Given the description of an element on the screen output the (x, y) to click on. 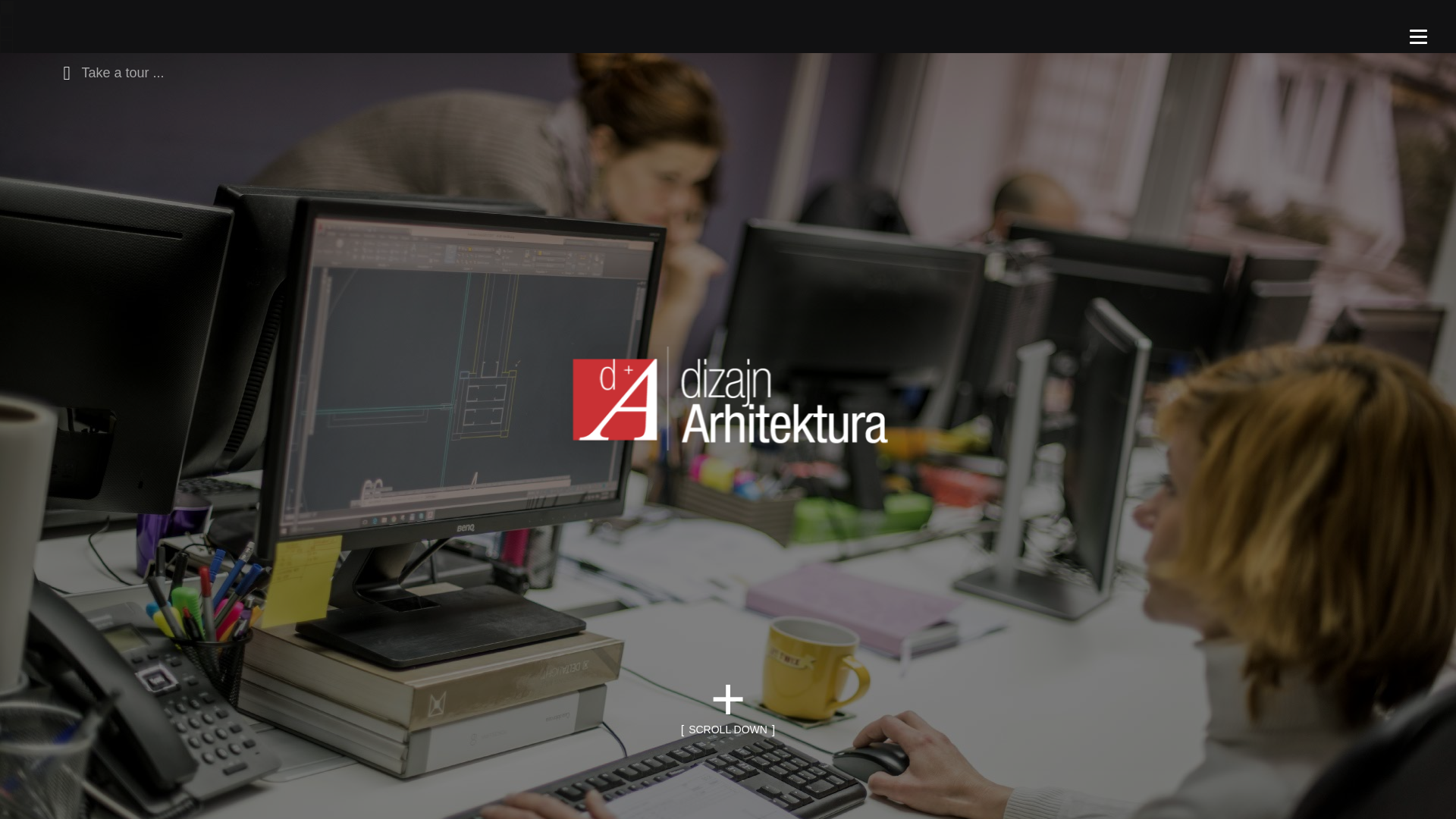
SCROLL DOWN (727, 730)
Take a tour ... (109, 70)
